Given the description of an element on the screen output the (x, y) to click on. 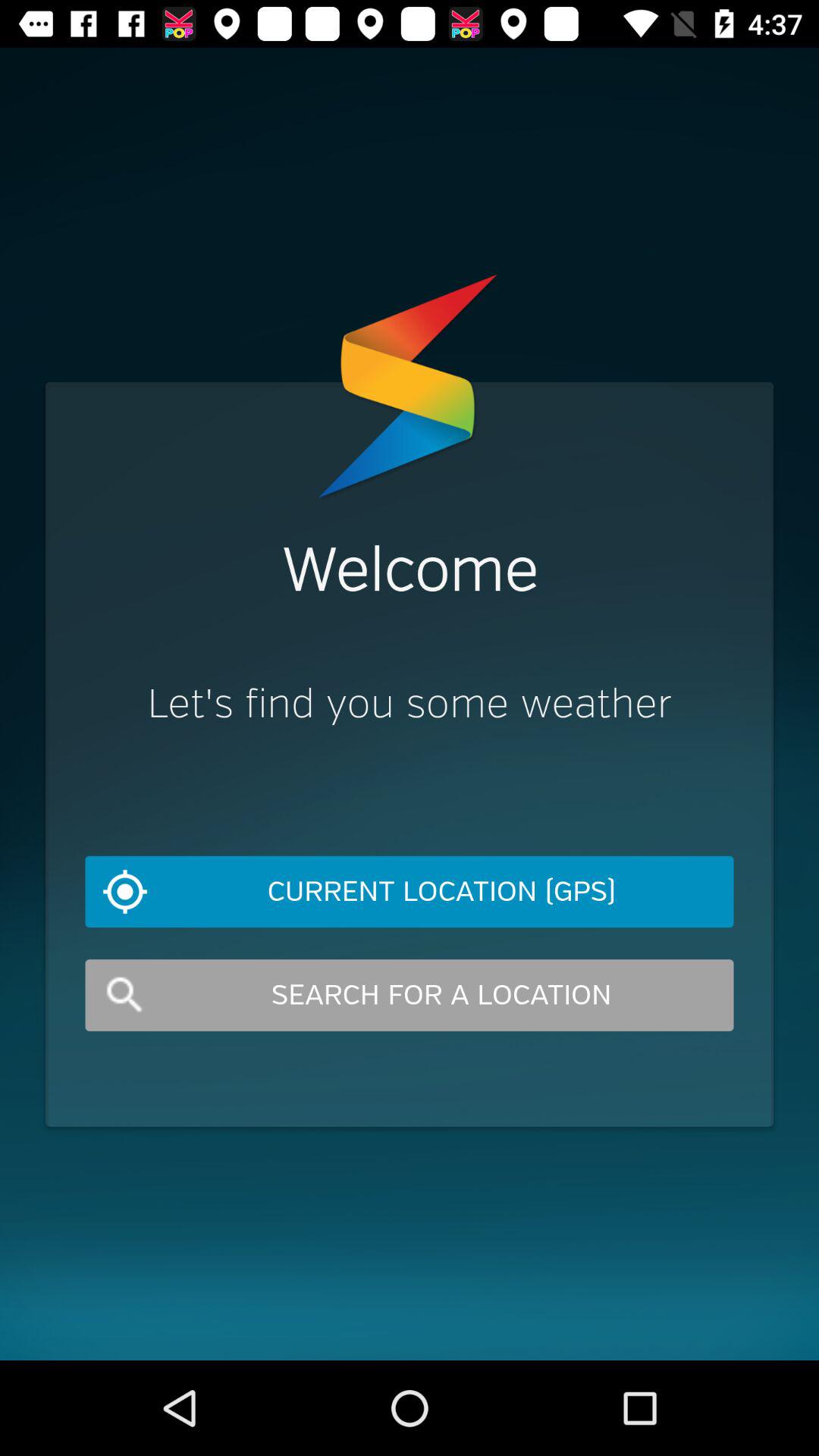
launch the item above the search for a (409, 891)
